Given the description of an element on the screen output the (x, y) to click on. 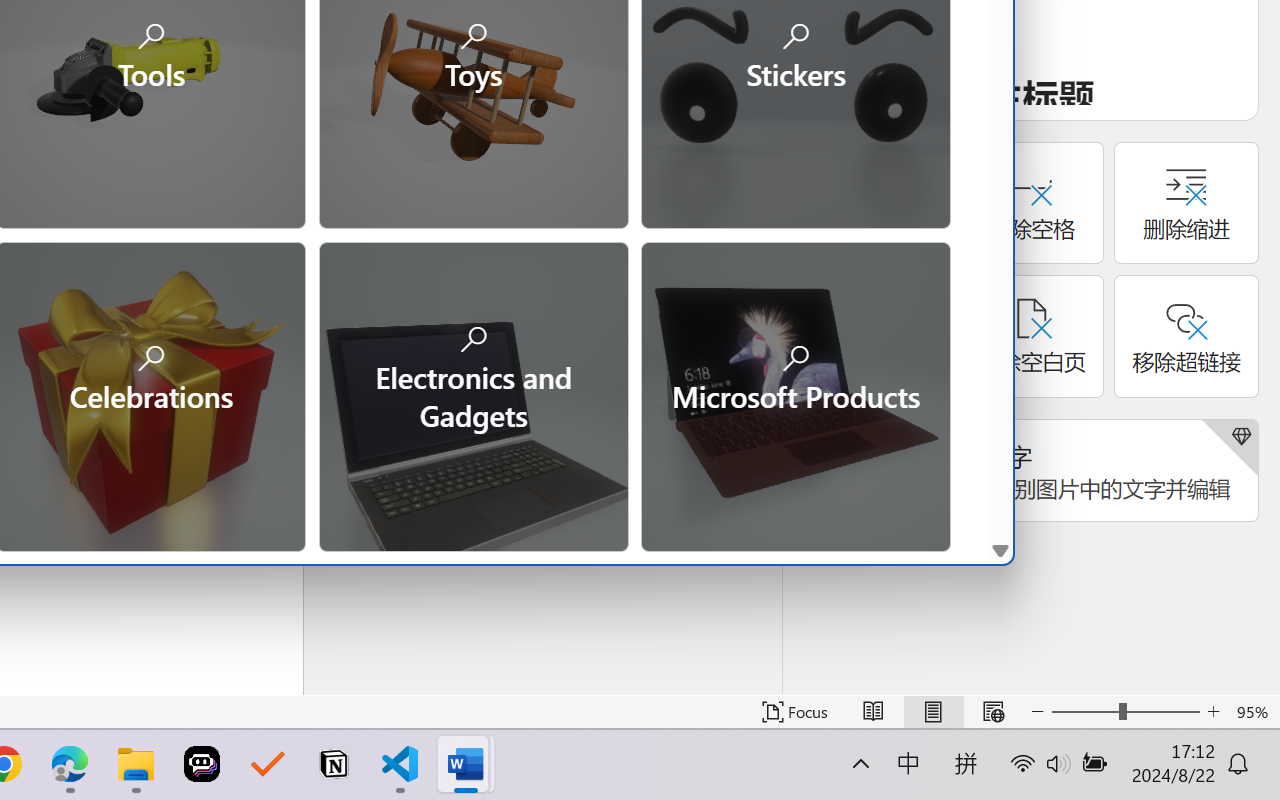
Electronics and Gadgets (472, 394)
